Given the description of an element on the screen output the (x, y) to click on. 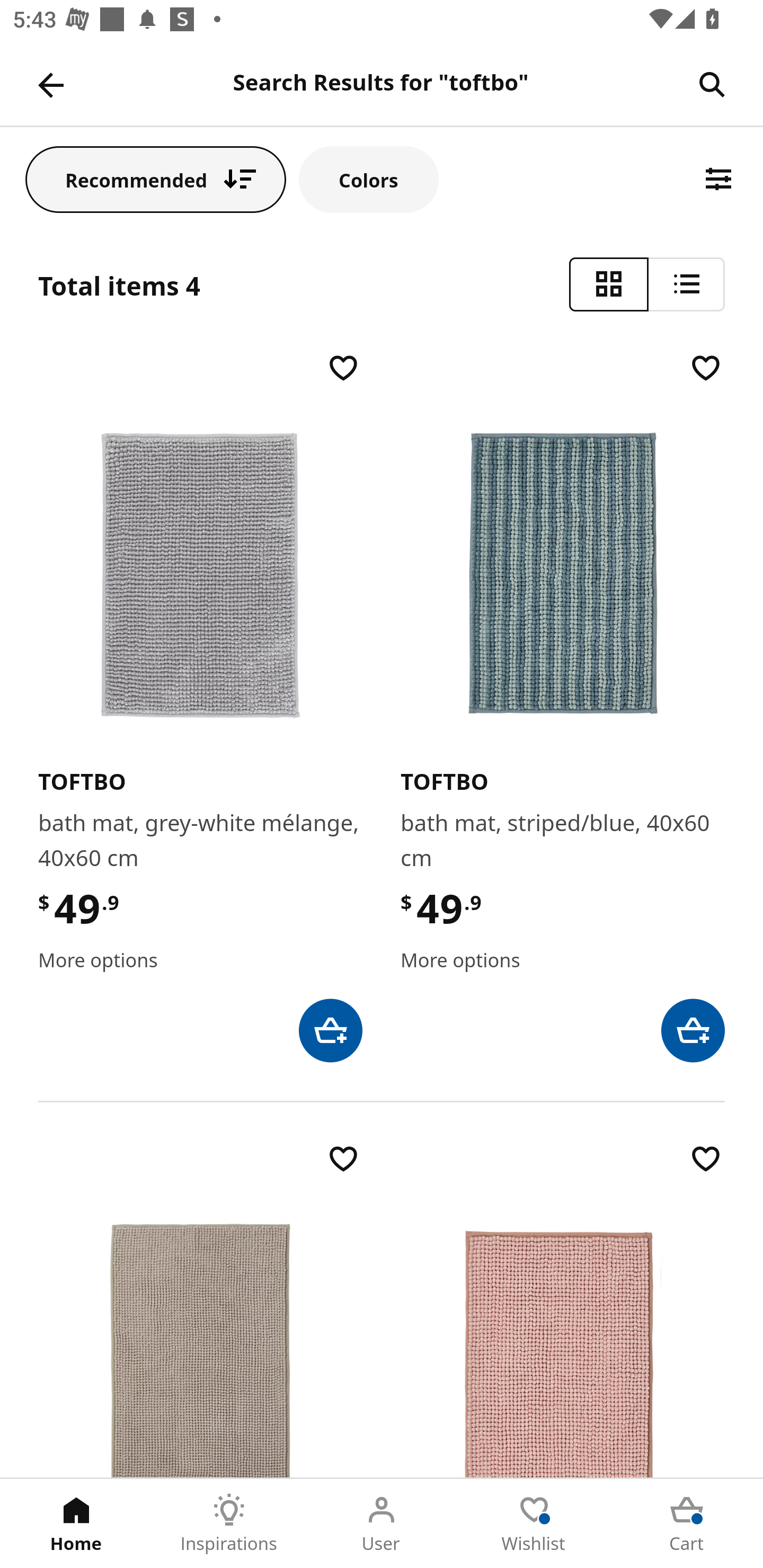
Recommended (155, 179)
Colors (368, 179)
Home
Tab 1 of 5 (76, 1522)
Inspirations
Tab 2 of 5 (228, 1522)
User
Tab 3 of 5 (381, 1522)
Wishlist
Tab 4 of 5 (533, 1522)
Cart
Tab 5 of 5 (686, 1522)
